Given the description of an element on the screen output the (x, y) to click on. 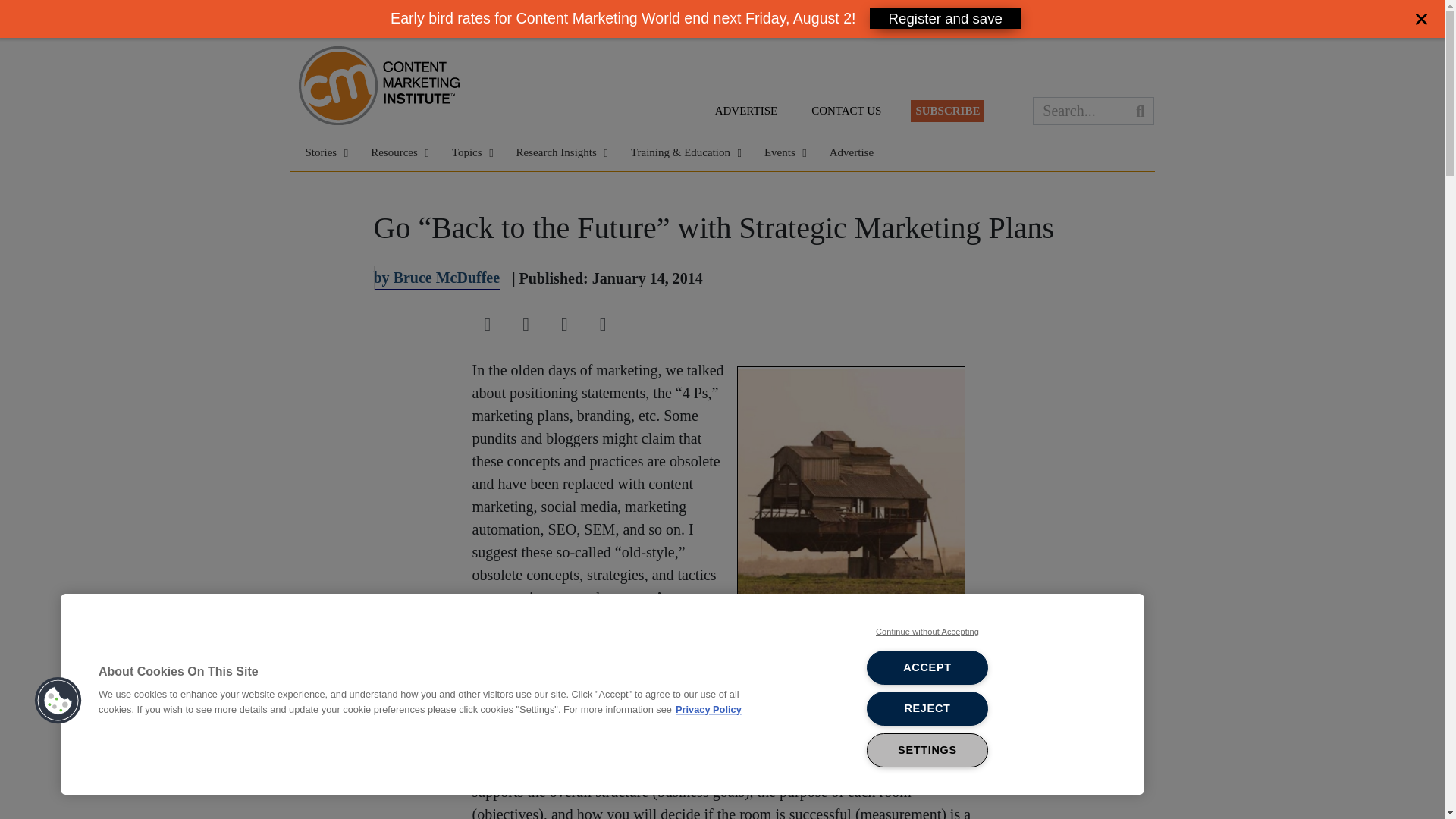
CONTACT US (845, 110)
Stories (322, 152)
SUBSCRIBE (947, 110)
ADVERTISE (745, 110)
Resources (395, 152)
Topics (468, 152)
Cookies Button (57, 700)
